Given the description of an element on the screen output the (x, y) to click on. 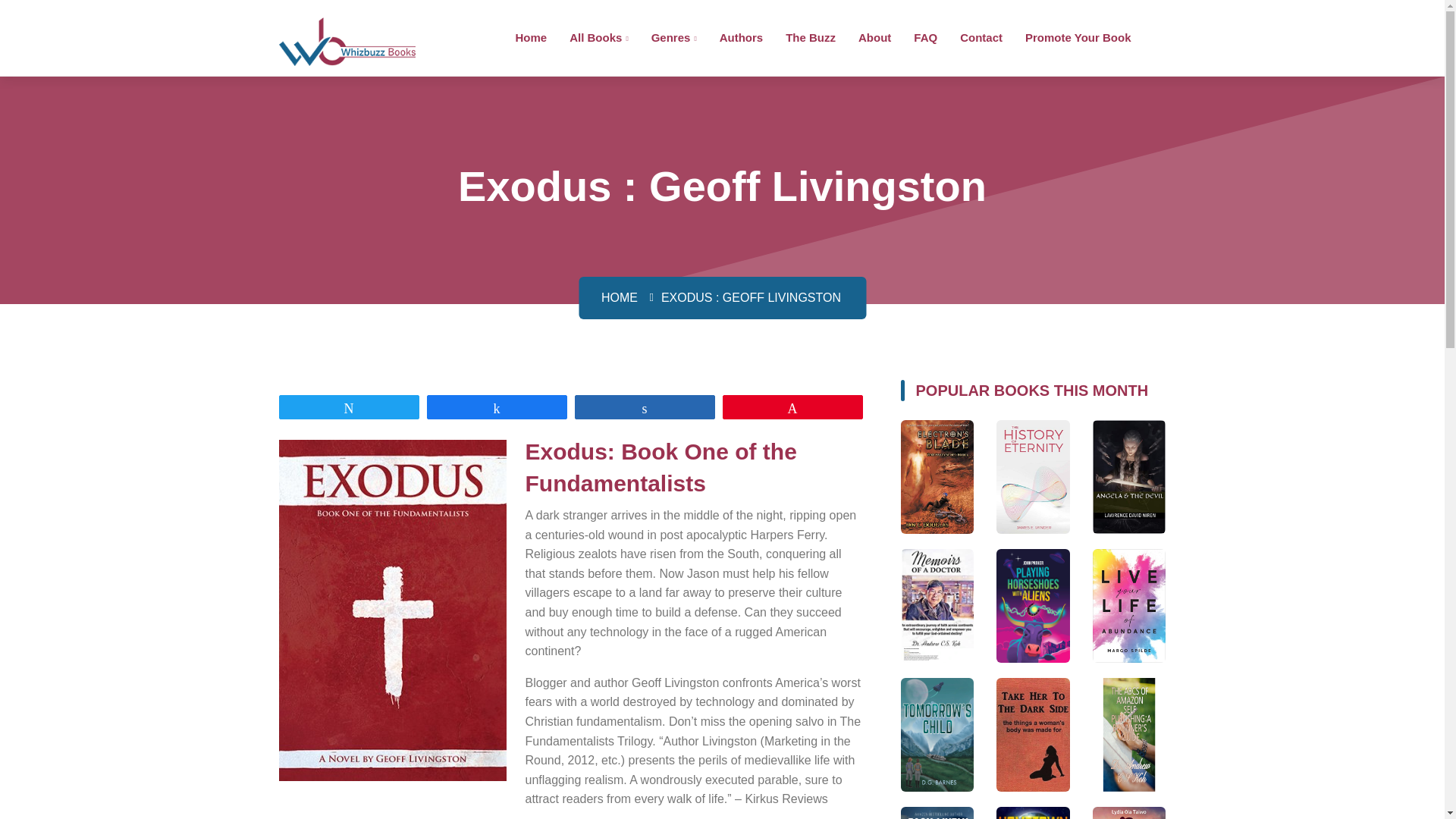
Authors (740, 37)
All Books (598, 37)
Home (530, 37)
Genres (673, 37)
